Given the description of an element on the screen output the (x, y) to click on. 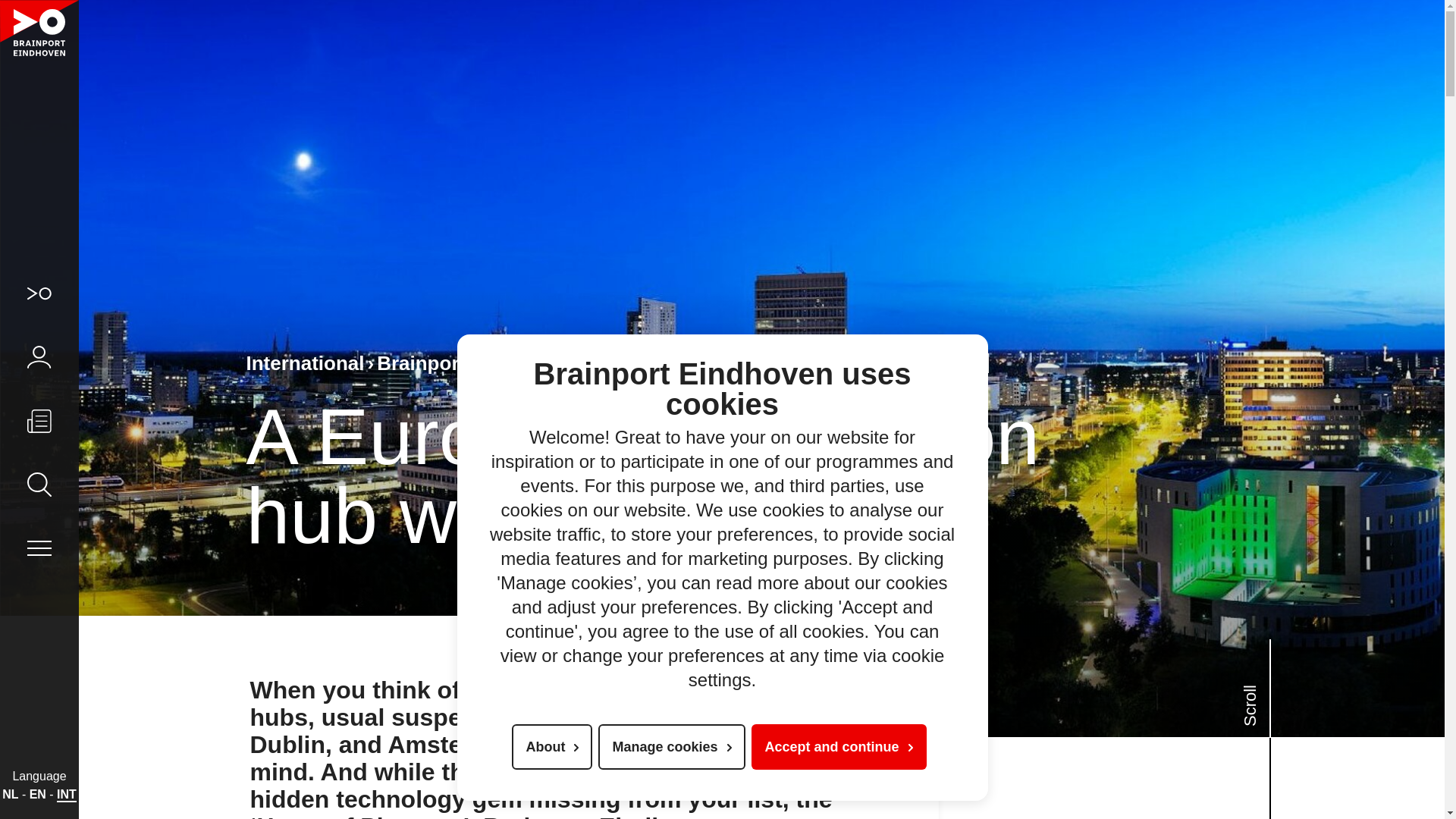
Brainport For You (465, 362)
INT (66, 793)
NL (9, 793)
Work (585, 362)
EN (37, 793)
Blogs (649, 362)
About (552, 746)
International (310, 362)
Accept and continue (838, 746)
Manage cookies (671, 746)
